Given the description of an element on the screen output the (x, y) to click on. 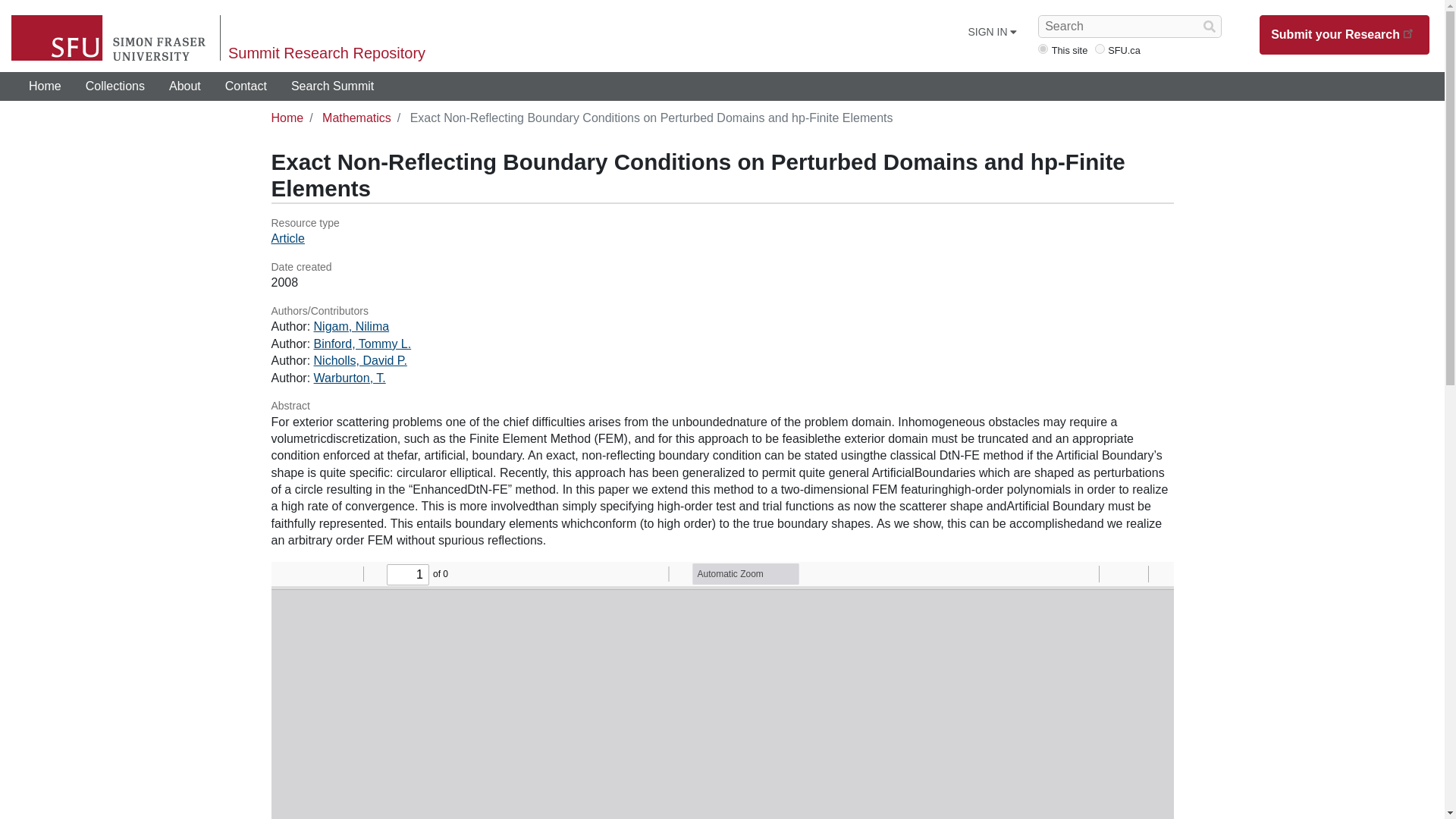
Search Summit (332, 86)
navbar-staff (1043, 49)
Nigam, Nilima (352, 326)
Summit Research Repository (326, 53)
Home (287, 117)
Warburton, T. (349, 377)
Mathematics (356, 117)
Home (45, 86)
Nicholls, David P. (360, 359)
About this site (184, 86)
Homepage for SFU Summit website (45, 86)
About (184, 86)
navbar-sfu (1099, 49)
